Given the description of an element on the screen output the (x, y) to click on. 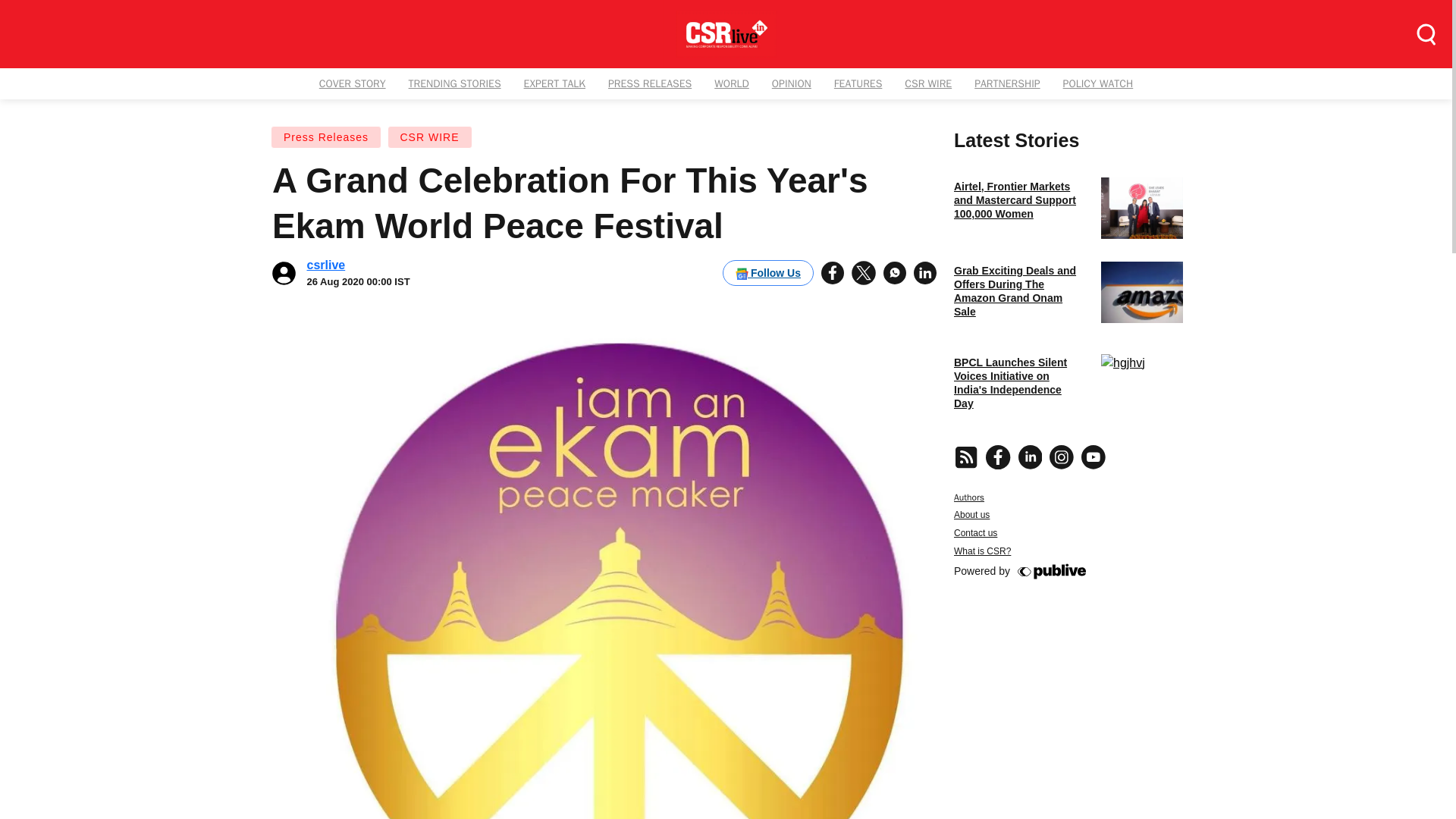
POLICY WATCH (1097, 83)
csrlive (1066, 513)
CSR WIRE (326, 264)
Follow Us (927, 83)
WORLD (767, 272)
TRENDING STORIES (731, 83)
Press Releases (454, 83)
CSR WIRE (325, 137)
FEATURES (429, 137)
PRESS RELEASES (857, 83)
OPINION (649, 83)
COVER STORY (791, 83)
PARTNERSHIP (352, 83)
EXPERT TALK (1006, 83)
